Given the description of an element on the screen output the (x, y) to click on. 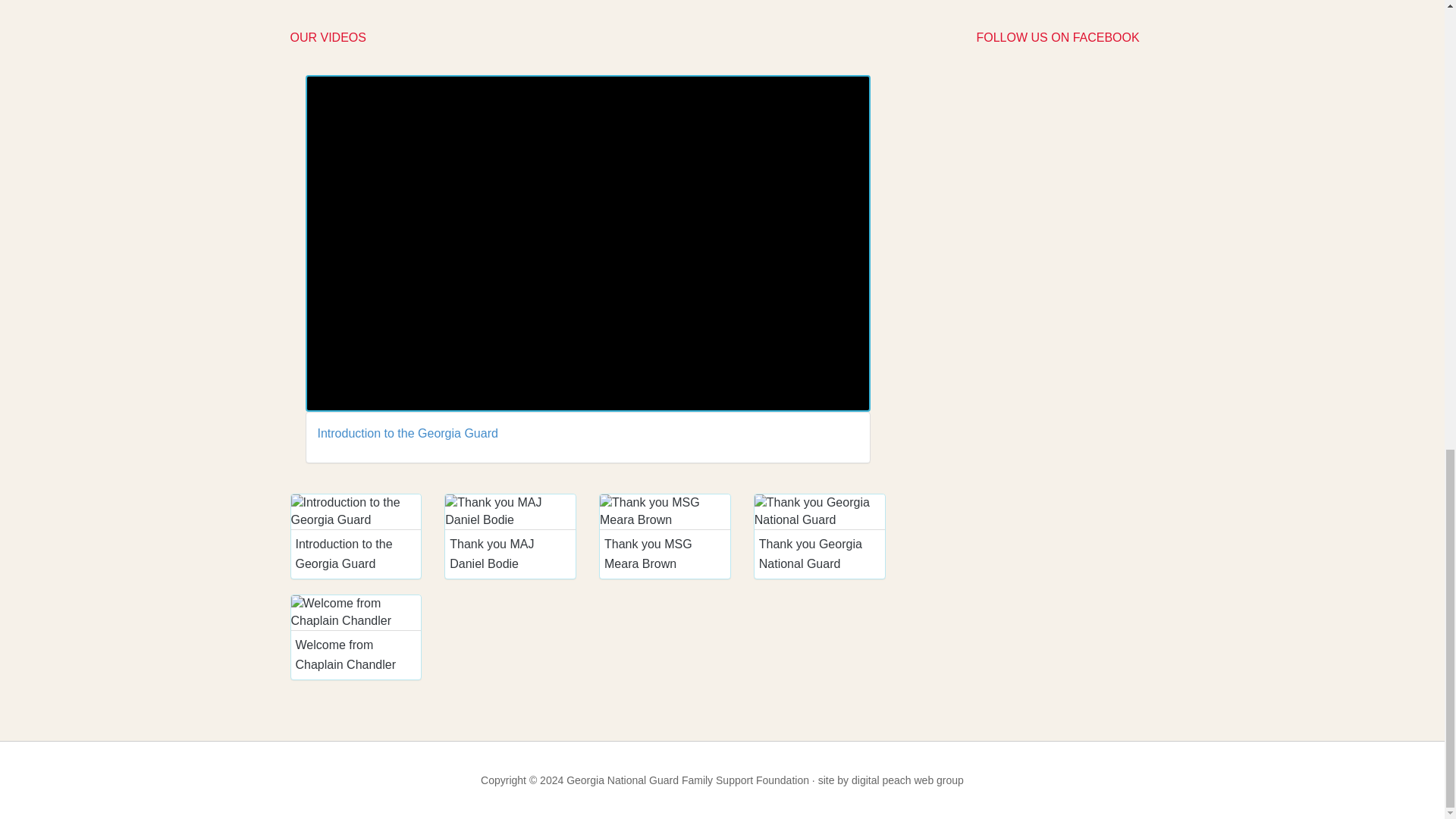
Introduction to the Georgia Guard (407, 432)
Introduction to the Georgia Guard (407, 432)
digital peach web group (907, 779)
